Given the description of an element on the screen output the (x, y) to click on. 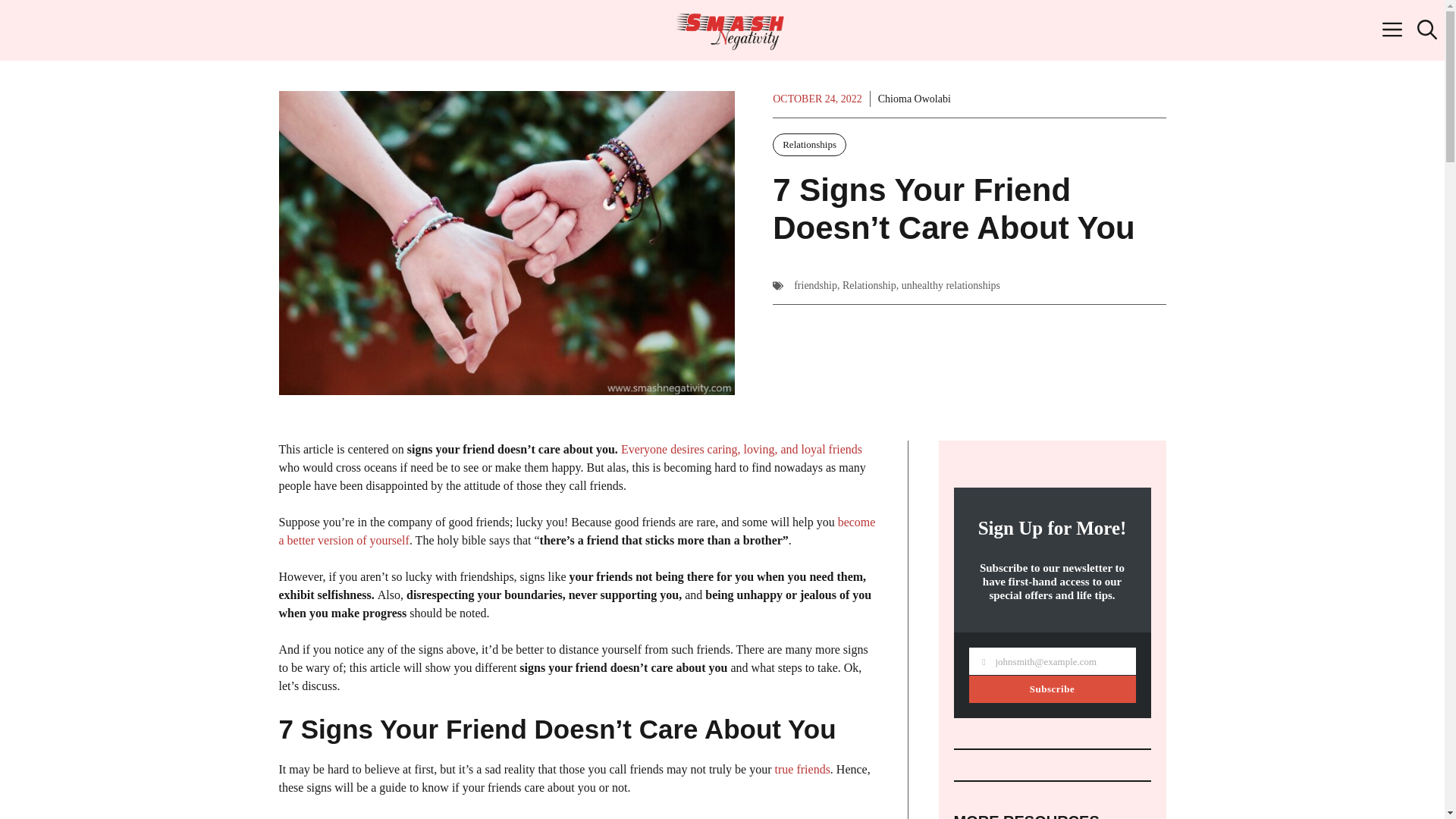
Everyone desires caring, loving, and loyal friends (741, 449)
friendship (815, 285)
Chioma Owolabi (913, 98)
true friends (801, 768)
Smash Negativity (729, 30)
Subscribe (1052, 688)
Relationship (869, 285)
become a better version of yourself (577, 531)
Relationships (809, 144)
unhealthy relationships (950, 285)
